Given the description of an element on the screen output the (x, y) to click on. 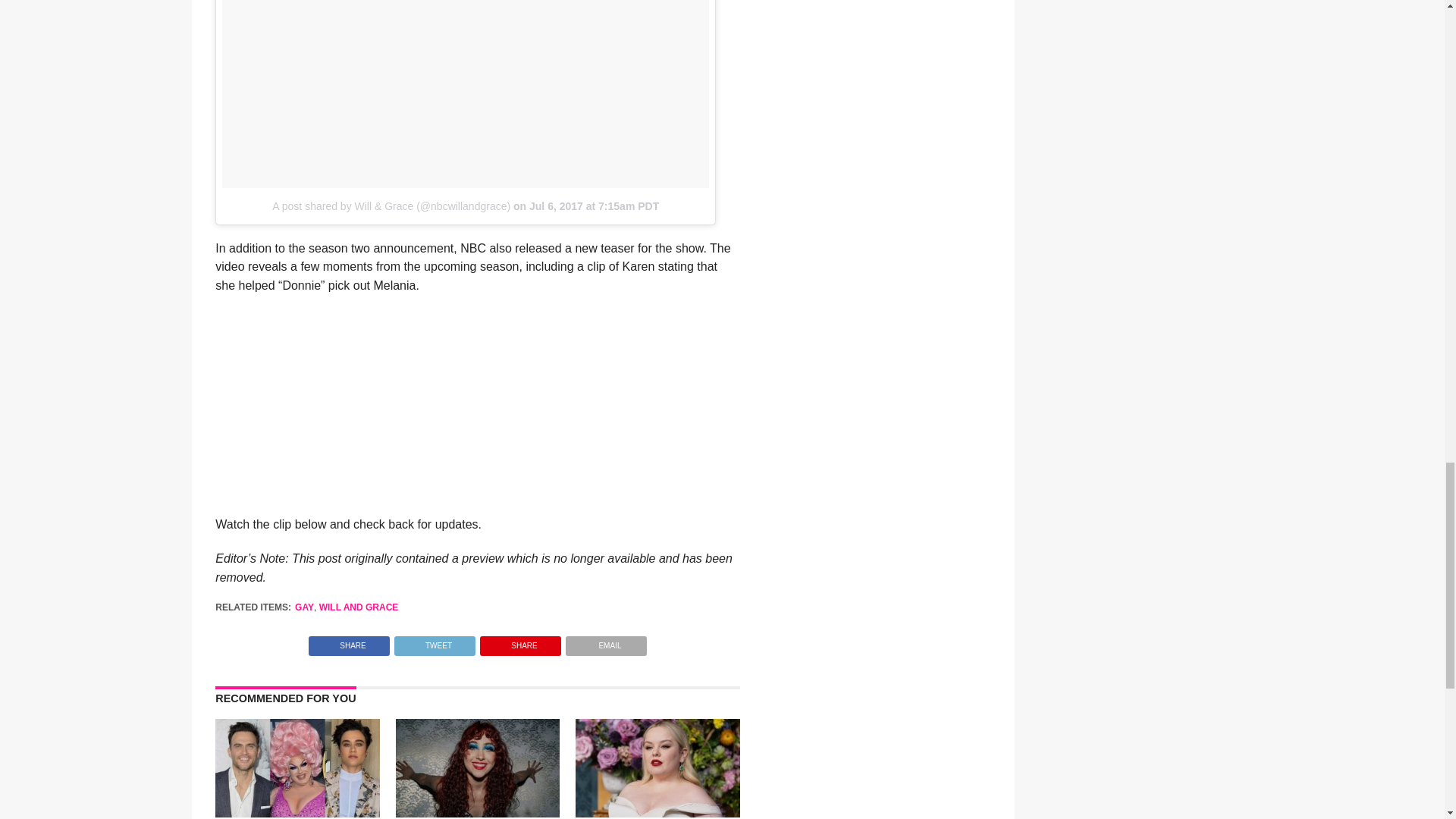
WILL AND GRACE (358, 606)
SHARE (349, 641)
Share on Facebook (349, 641)
Tweet This Post (434, 641)
GAY (304, 606)
Pin This Post (520, 641)
